Given the description of an element on the screen output the (x, y) to click on. 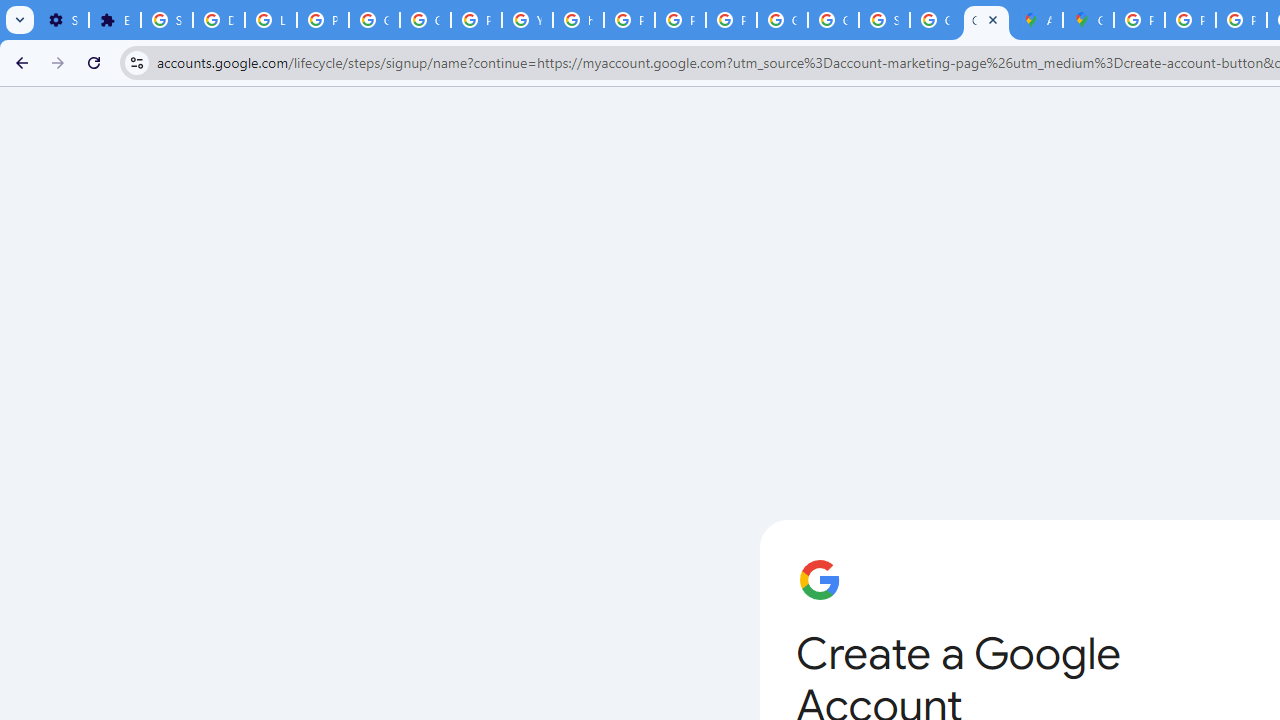
Google Maps (1087, 20)
Policy Accountability and Transparency - Transparency Center (1138, 20)
Reload (93, 62)
Google Account Help (424, 20)
Back (19, 62)
Privacy Help Center - Policies Help (1241, 20)
Delete photos & videos - Computer - Google Photos Help (218, 20)
Sign in - Google Accounts (884, 20)
